Given the description of an element on the screen output the (x, y) to click on. 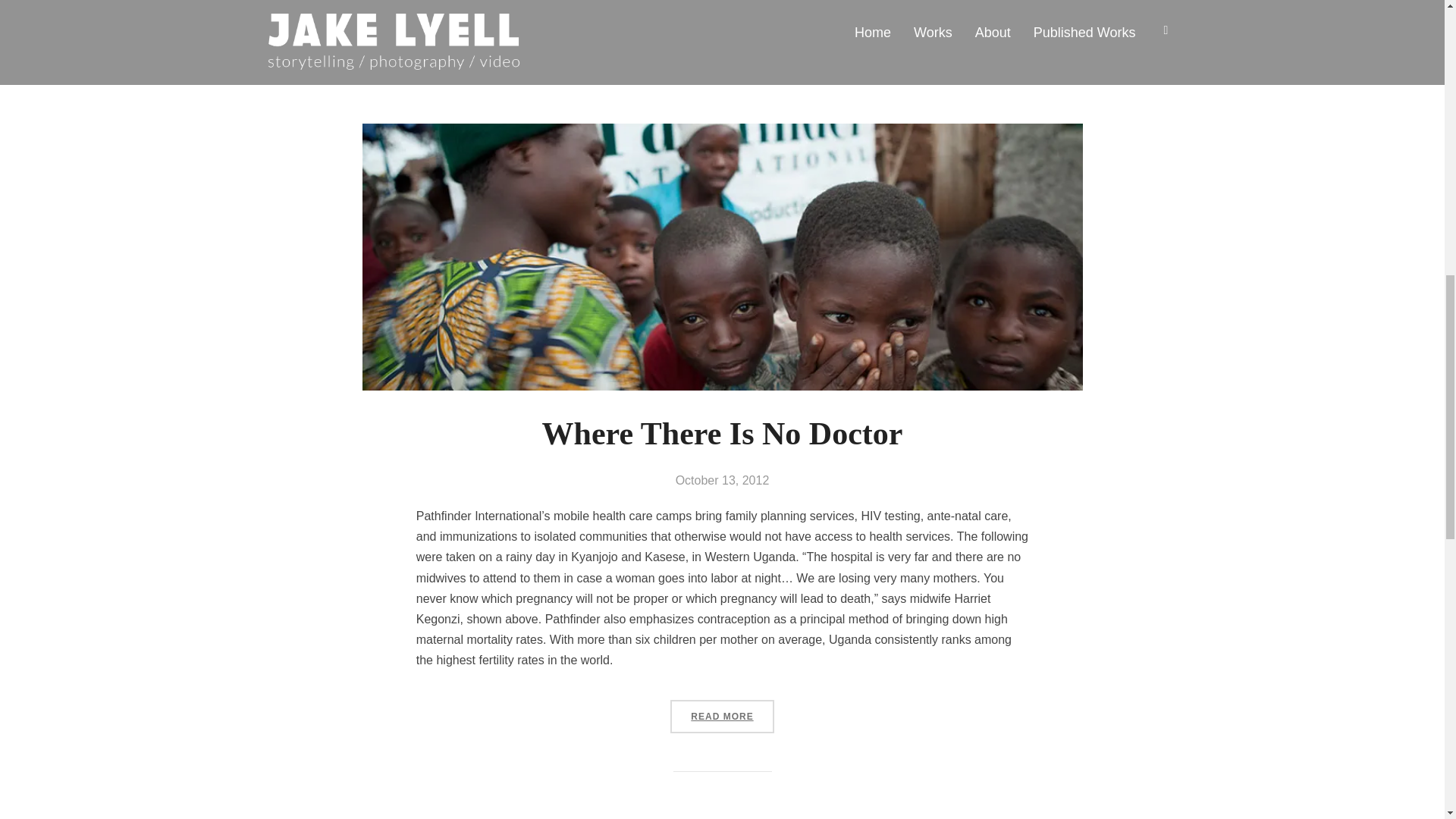
READ MORE (721, 22)
Where There Is No Doctor (721, 433)
READ MORE (721, 716)
